Given the description of an element on the screen output the (x, y) to click on. 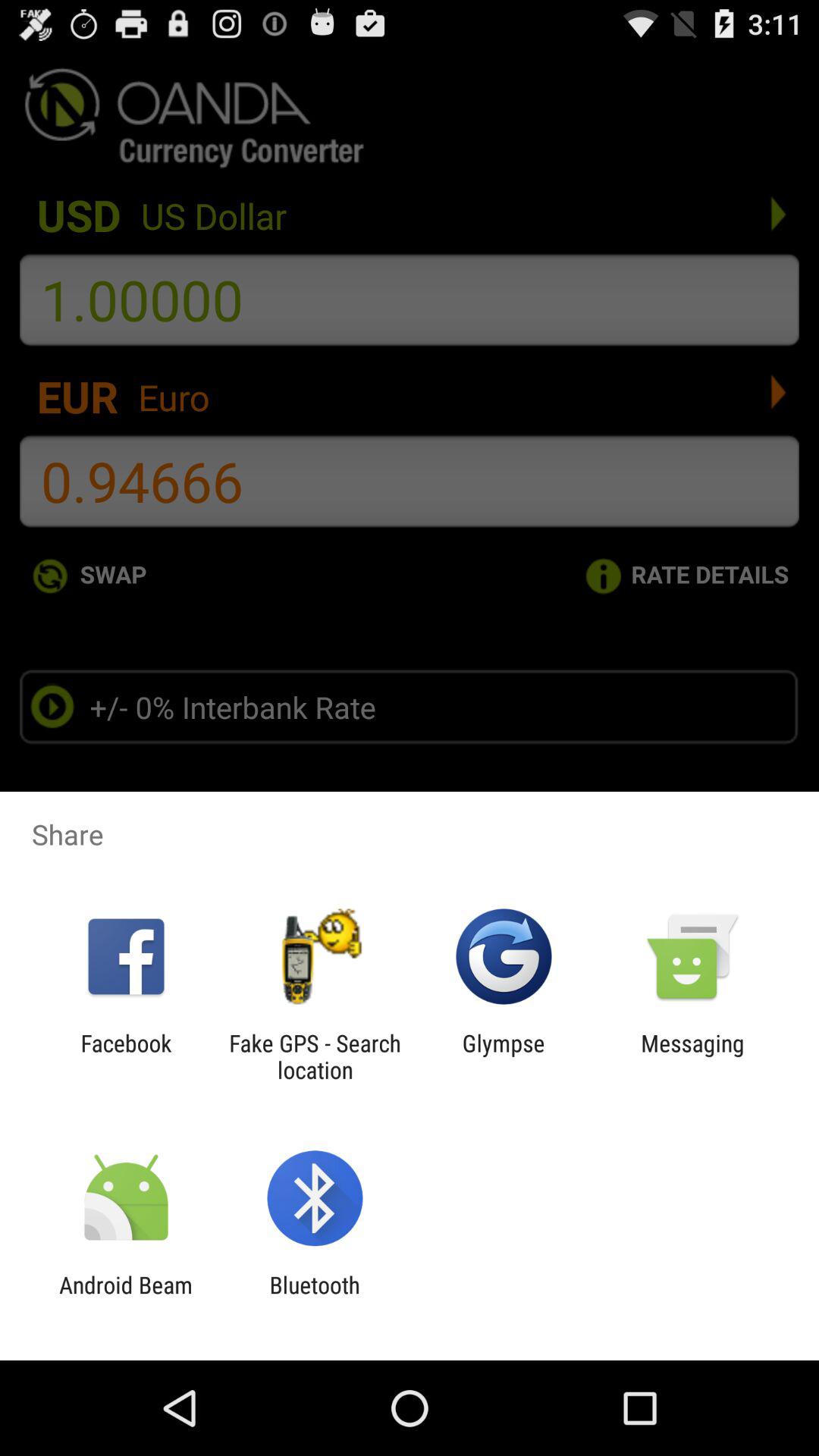
press app to the right of fake gps search (503, 1056)
